Given the description of an element on the screen output the (x, y) to click on. 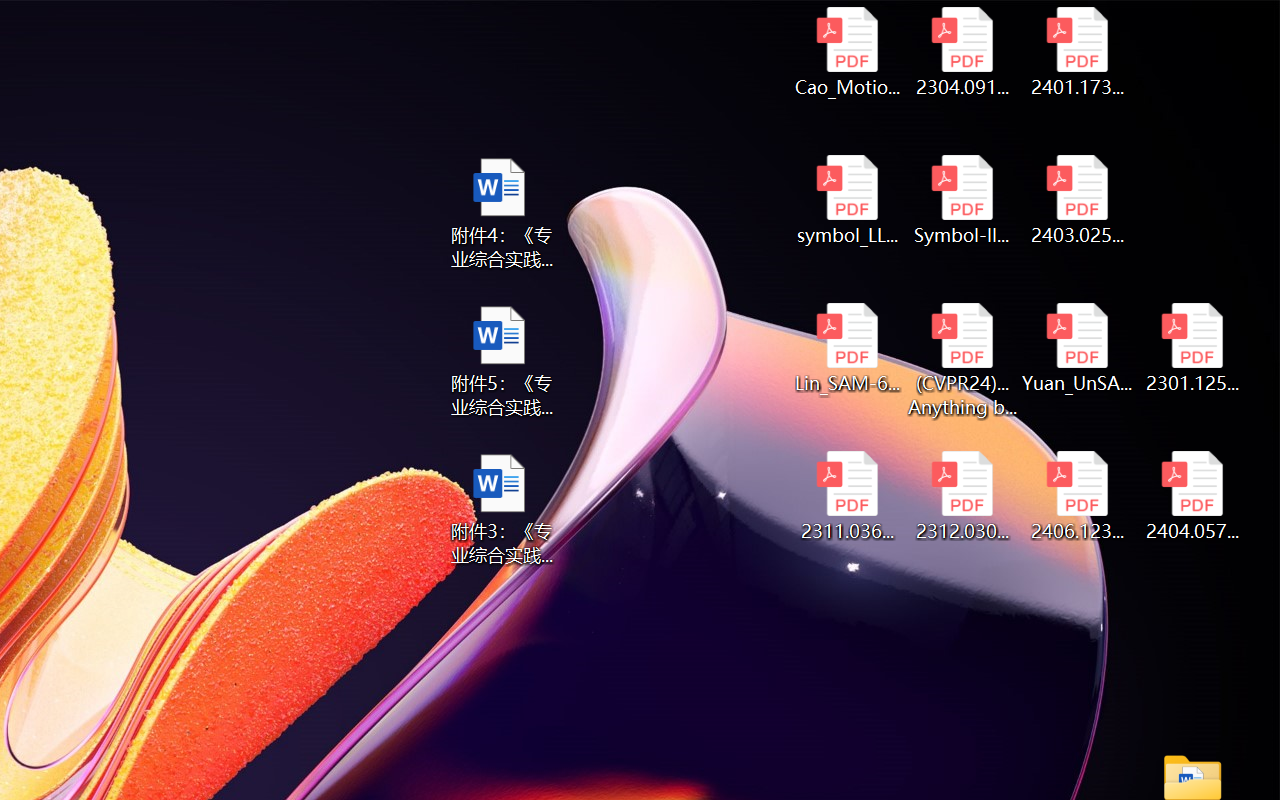
2304.09121v3.pdf (962, 52)
2406.12373v2.pdf (1077, 496)
